Given the description of an element on the screen output the (x, y) to click on. 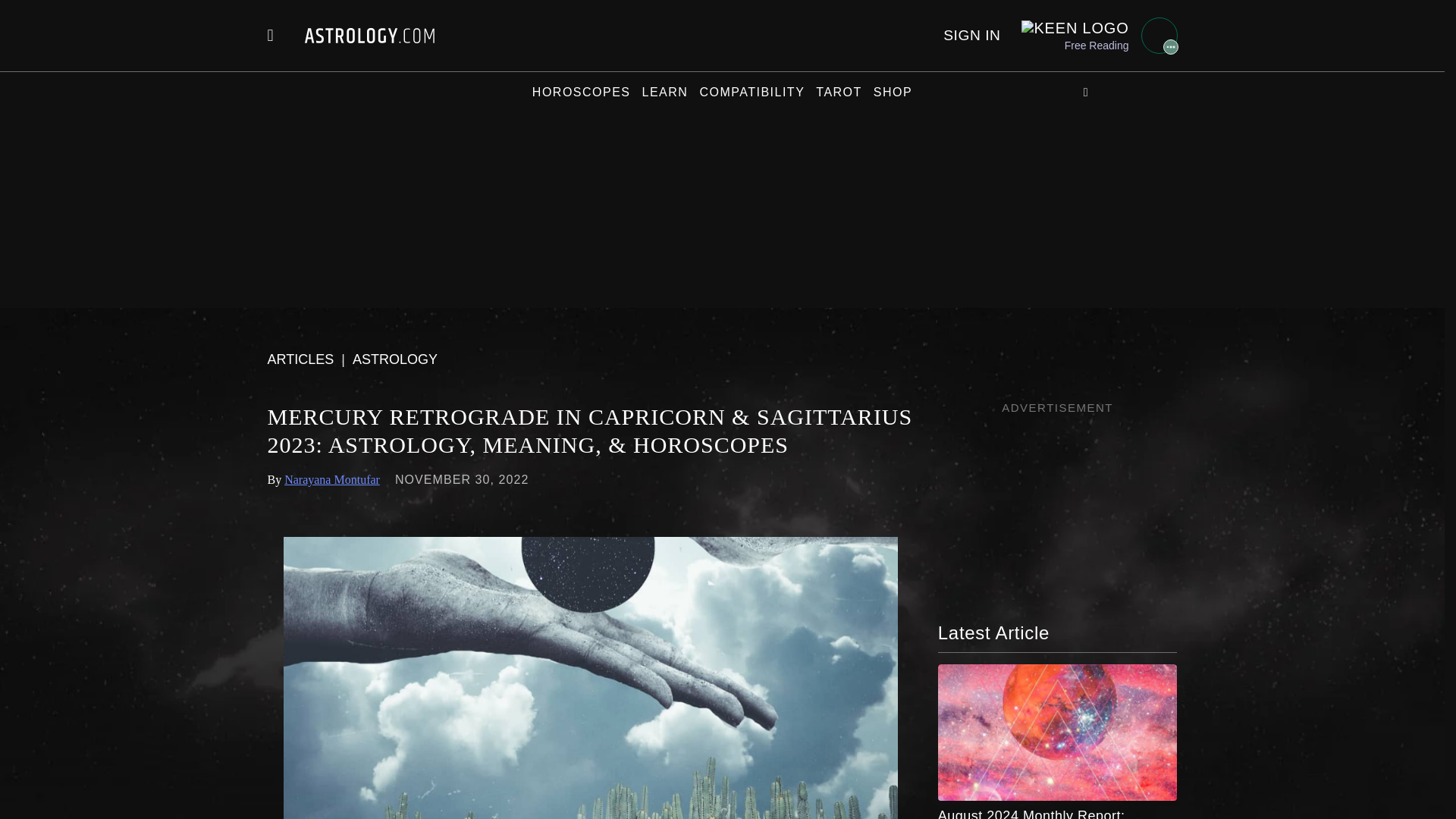
SIGN IN (971, 35)
